Given the description of an element on the screen output the (x, y) to click on. 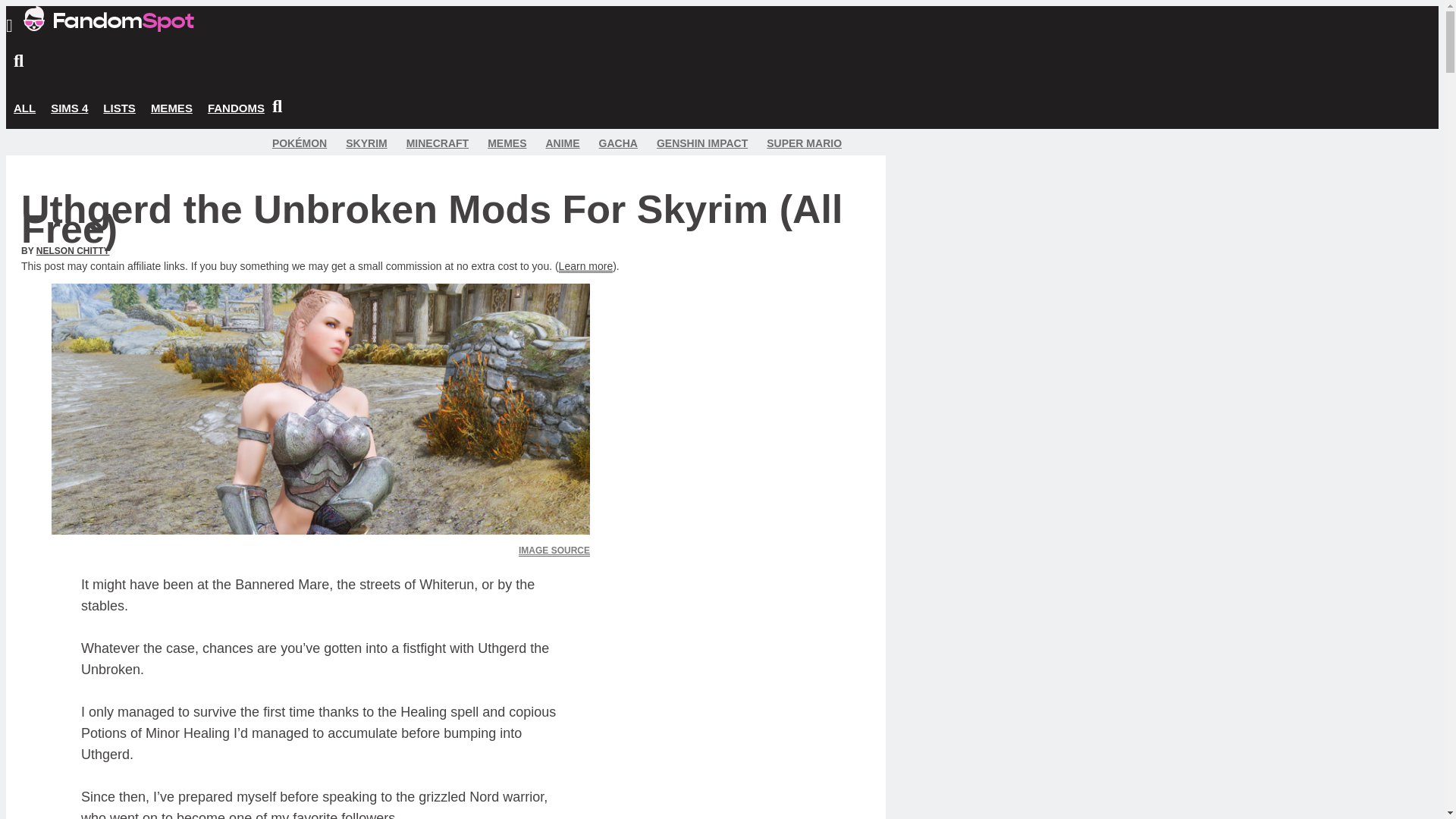
FANDOMS (236, 108)
GENSHIN IMPACT (702, 143)
Learn more (585, 266)
GACHA (617, 143)
ANIME (561, 143)
MEMES (171, 108)
SKYRIM (366, 143)
FandomSpot (108, 27)
MINECRAFT (437, 143)
MEMES (506, 143)
LISTS (119, 108)
FandomSpot (108, 18)
NELSON CHITTY (73, 250)
IMAGE SOURCE (553, 550)
SUPER MARIO (804, 143)
